Given the description of an element on the screen output the (x, y) to click on. 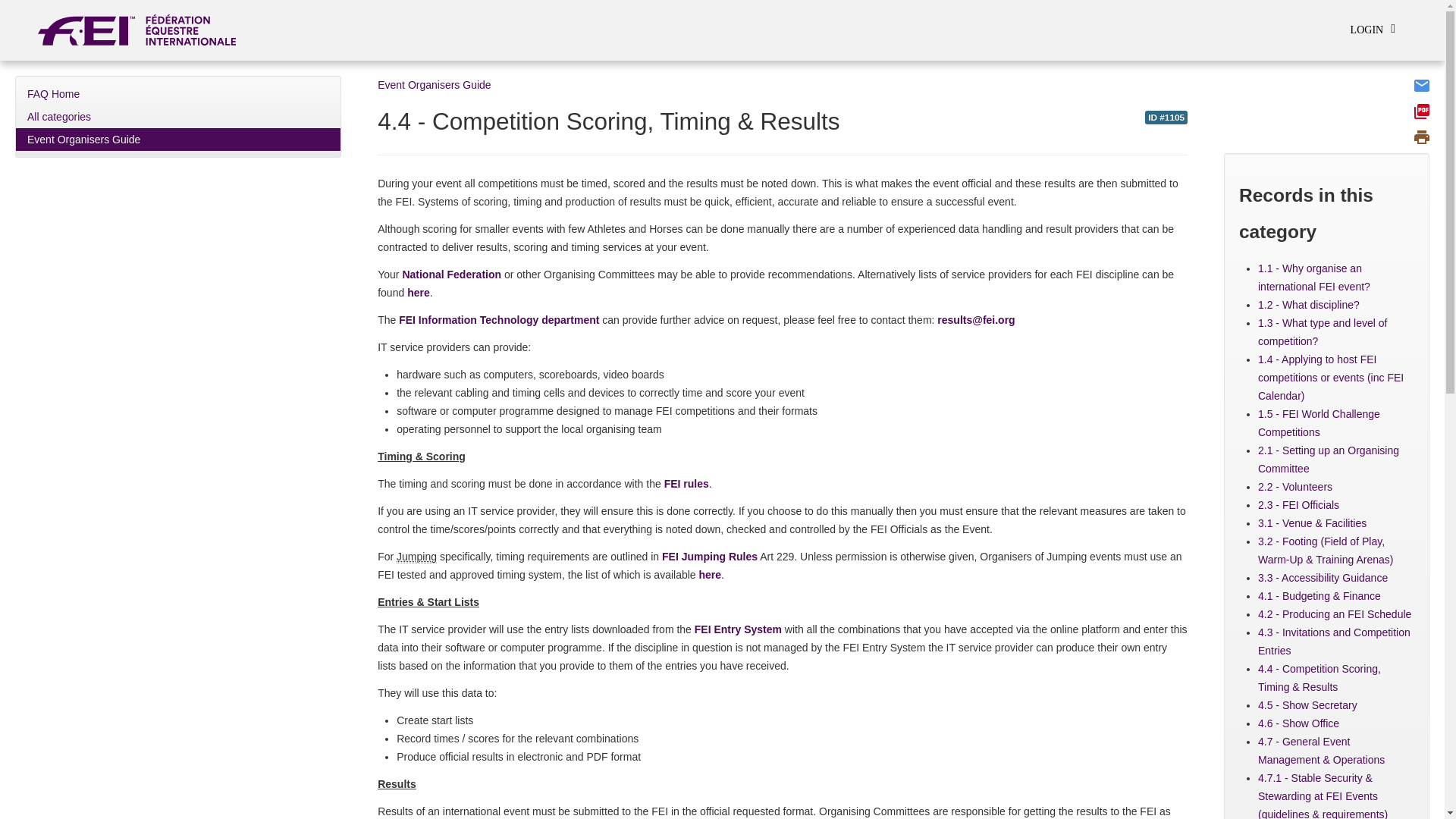
All categories (178, 116)
National Federation (450, 274)
FEI Knowledgebase (142, 26)
FEI Entry System (737, 629)
PDF version (1421, 111)
FEI Information Technology department (498, 319)
LOGIN (1372, 30)
FEI Jumping Rules (709, 556)
FEI rules (686, 483)
here (710, 574)
FAQ Home (178, 93)
1.1 - Why organise an international FEI event? (1313, 277)
1.2 - What discipline? (1308, 304)
1.3 - What type and level of competition? (1322, 331)
Event Organisers Guide (178, 138)
